Given the description of an element on the screen output the (x, y) to click on. 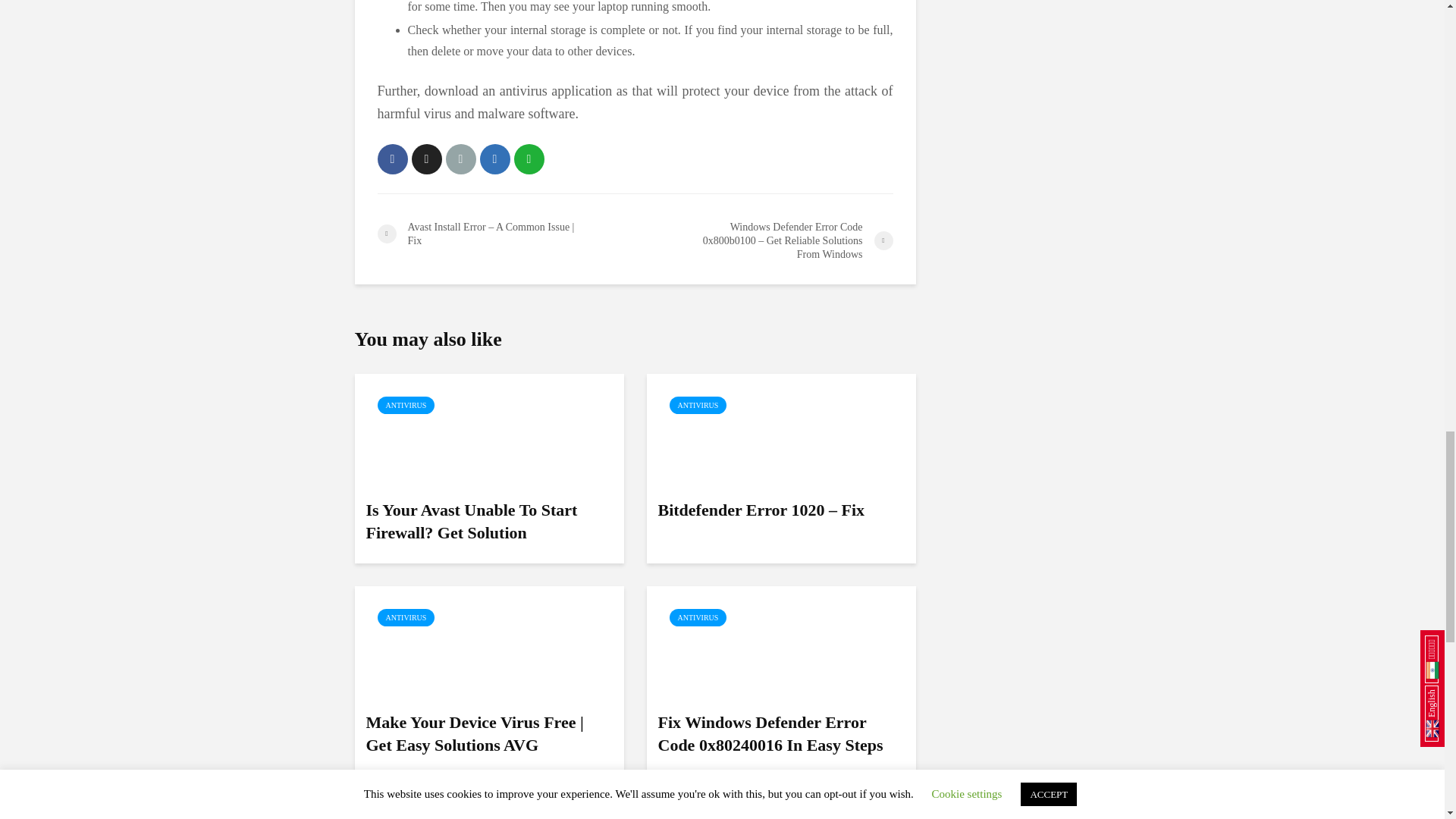
Is Your Avast Unable To Start Firewall? Get Solution (489, 429)
Fix Windows Defender Error Code 0x80240016 In Easy Steps (780, 641)
